Given the description of an element on the screen output the (x, y) to click on. 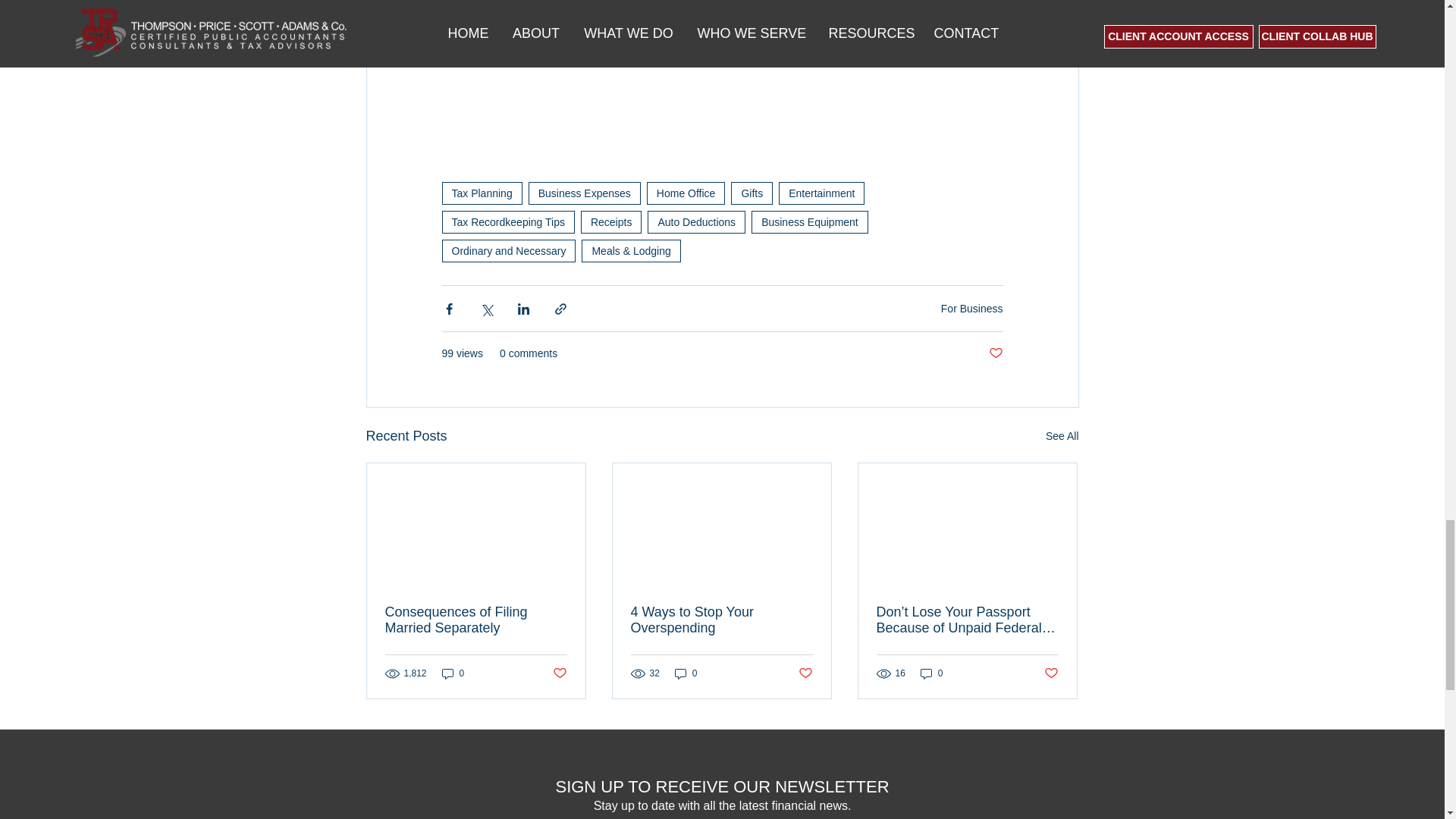
Tax Recordkeeping Tips (507, 221)
Business Expenses (584, 192)
Gifts (751, 192)
Entertainment (821, 192)
Tax Planning (481, 192)
Business Equipment (809, 221)
Receipts (611, 221)
Auto Deductions (696, 221)
Home Office (685, 192)
Ordinary and Necessary (508, 250)
